Given the description of an element on the screen output the (x, y) to click on. 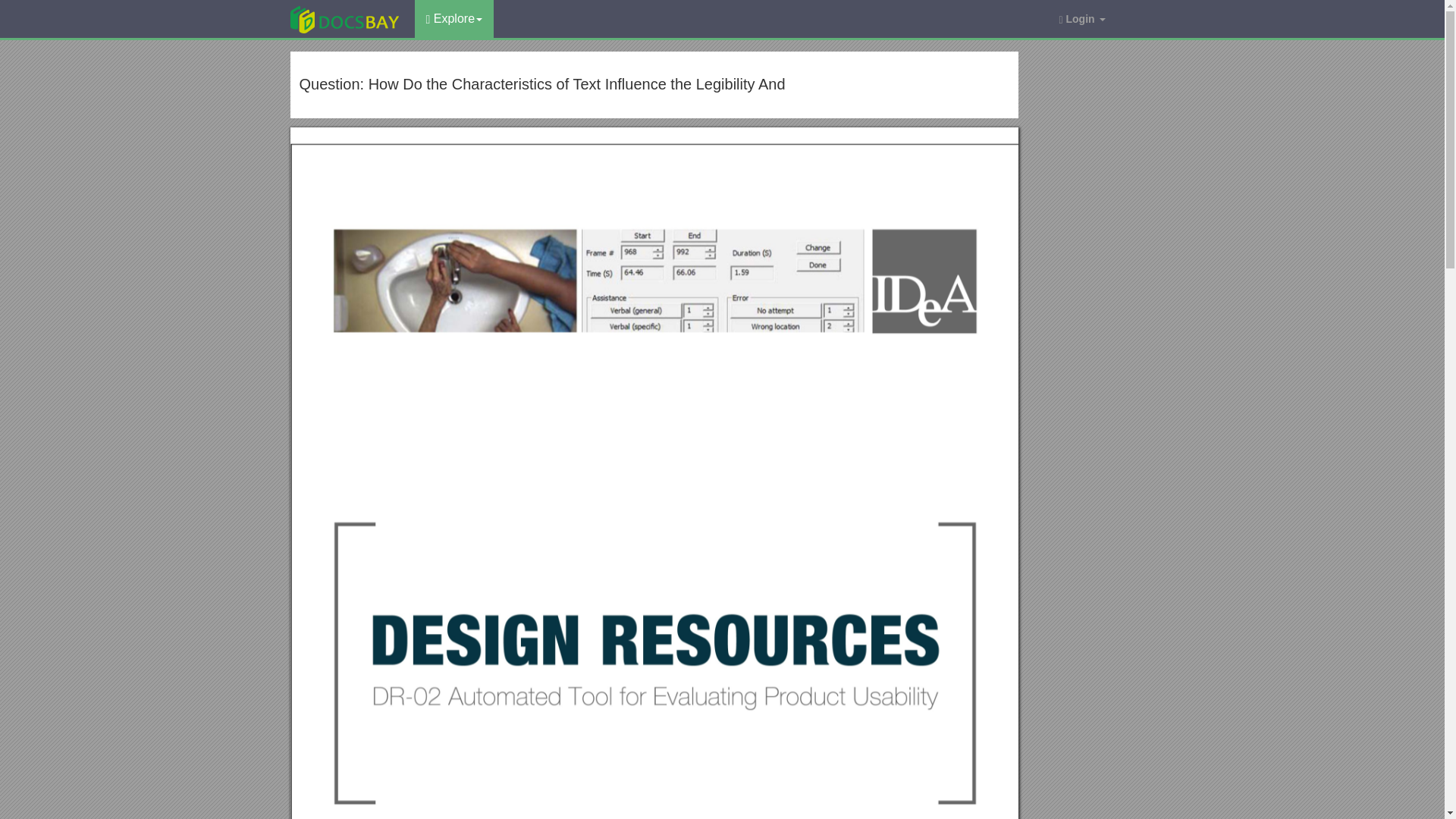
Explore (453, 18)
Login (1081, 18)
